Given the description of an element on the screen output the (x, y) to click on. 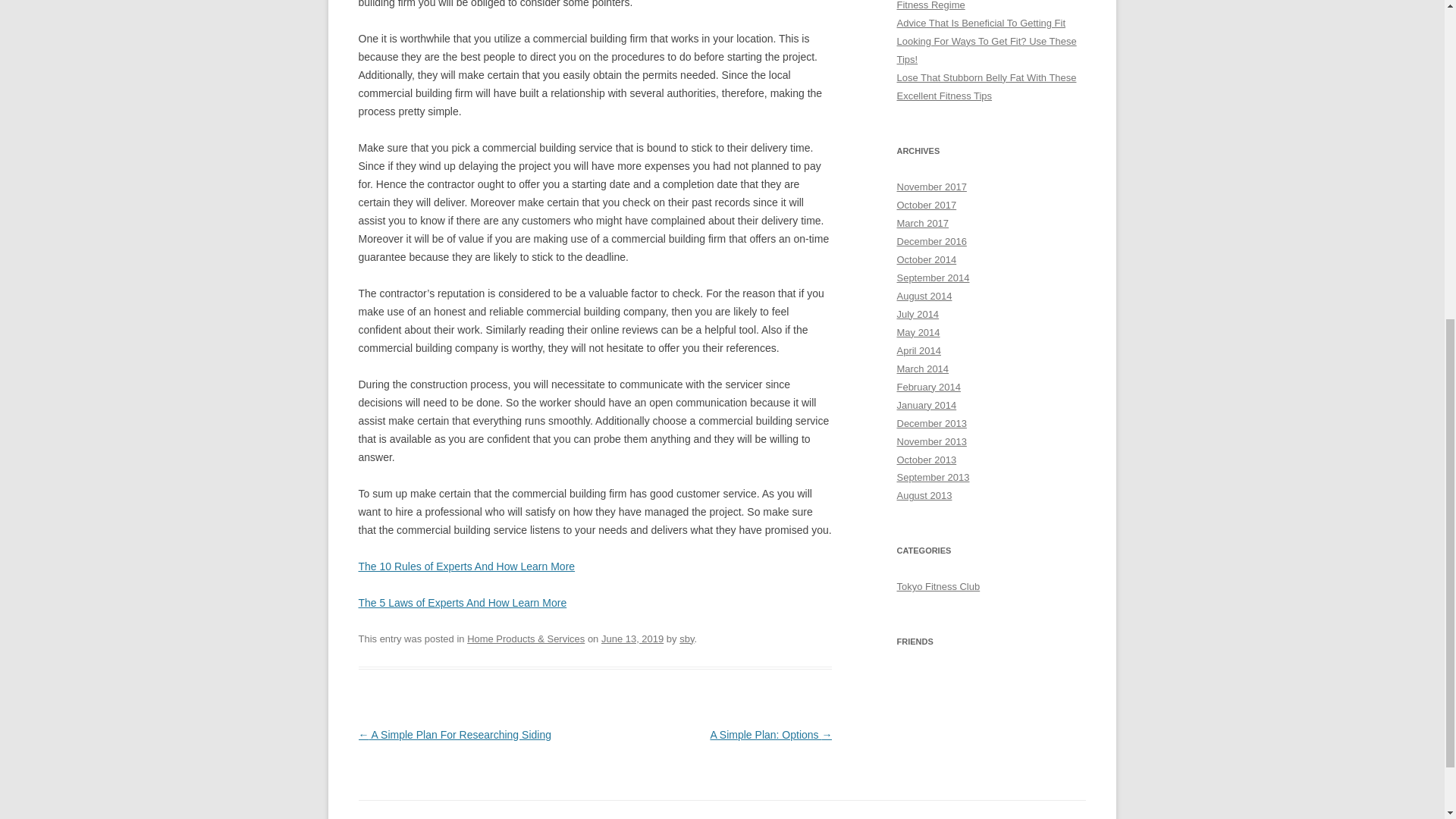
November 2017 (931, 186)
December 2016 (931, 241)
Increasing Your Health With A Dedicated Fitness Regime (984, 5)
October 2017 (926, 204)
June 13, 2019 (632, 638)
July 2014 (917, 314)
March 2017 (922, 223)
August 2013 (924, 495)
The 10 Rules of Experts And How Learn More (466, 566)
